Given the description of an element on the screen output the (x, y) to click on. 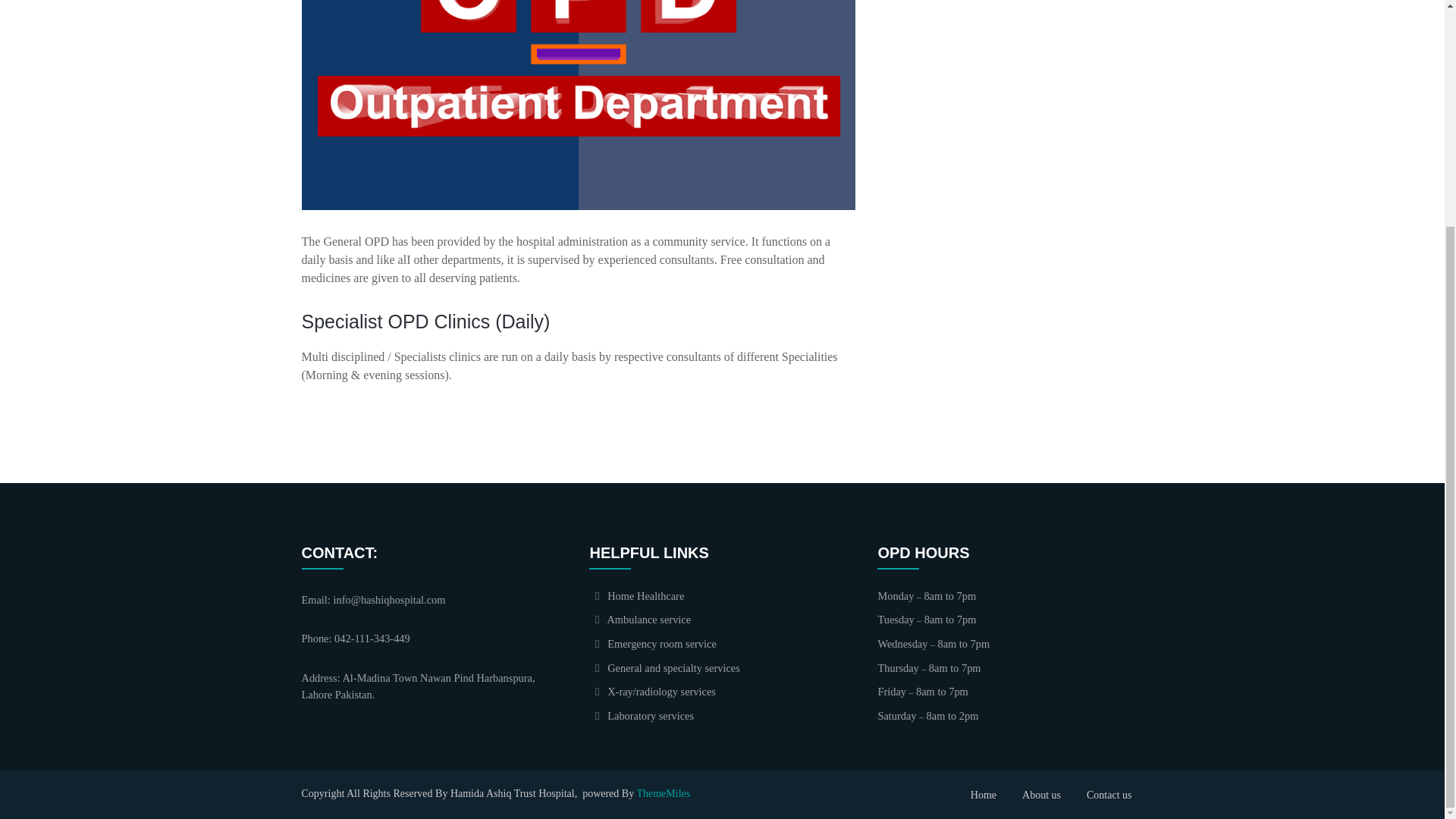
Home (983, 794)
Home Healthcare (636, 595)
ThemeMiles (663, 792)
About us (1041, 794)
Contact us (1109, 794)
Ambulance service (639, 619)
Emergency room service (652, 644)
General and specialty services (664, 667)
Laboratory services (641, 715)
